Given the description of an element on the screen output the (x, y) to click on. 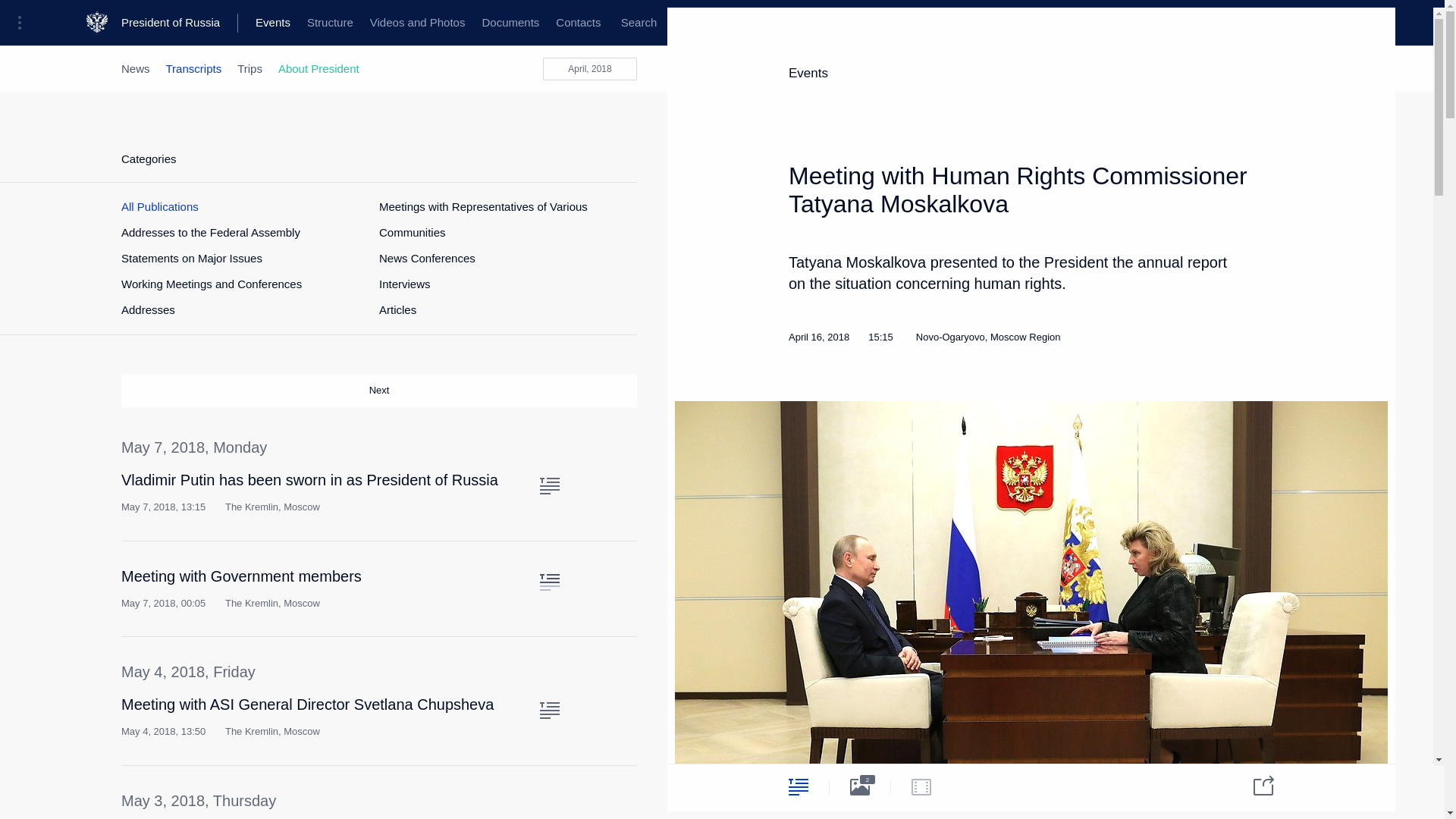
Text of the article (549, 485)
Videos and Photos (417, 22)
All Publications (159, 207)
Next (378, 390)
Structure (329, 22)
Meetings with Representatives of Various Communities (499, 219)
Presidential Executive Office (257, 22)
Text of the article (549, 710)
Security Council (470, 22)
Global website search (638, 22)
Working Meetings and Conferences (210, 284)
News Conferences (427, 258)
Addresses (147, 309)
